Given the description of an element on the screen output the (x, y) to click on. 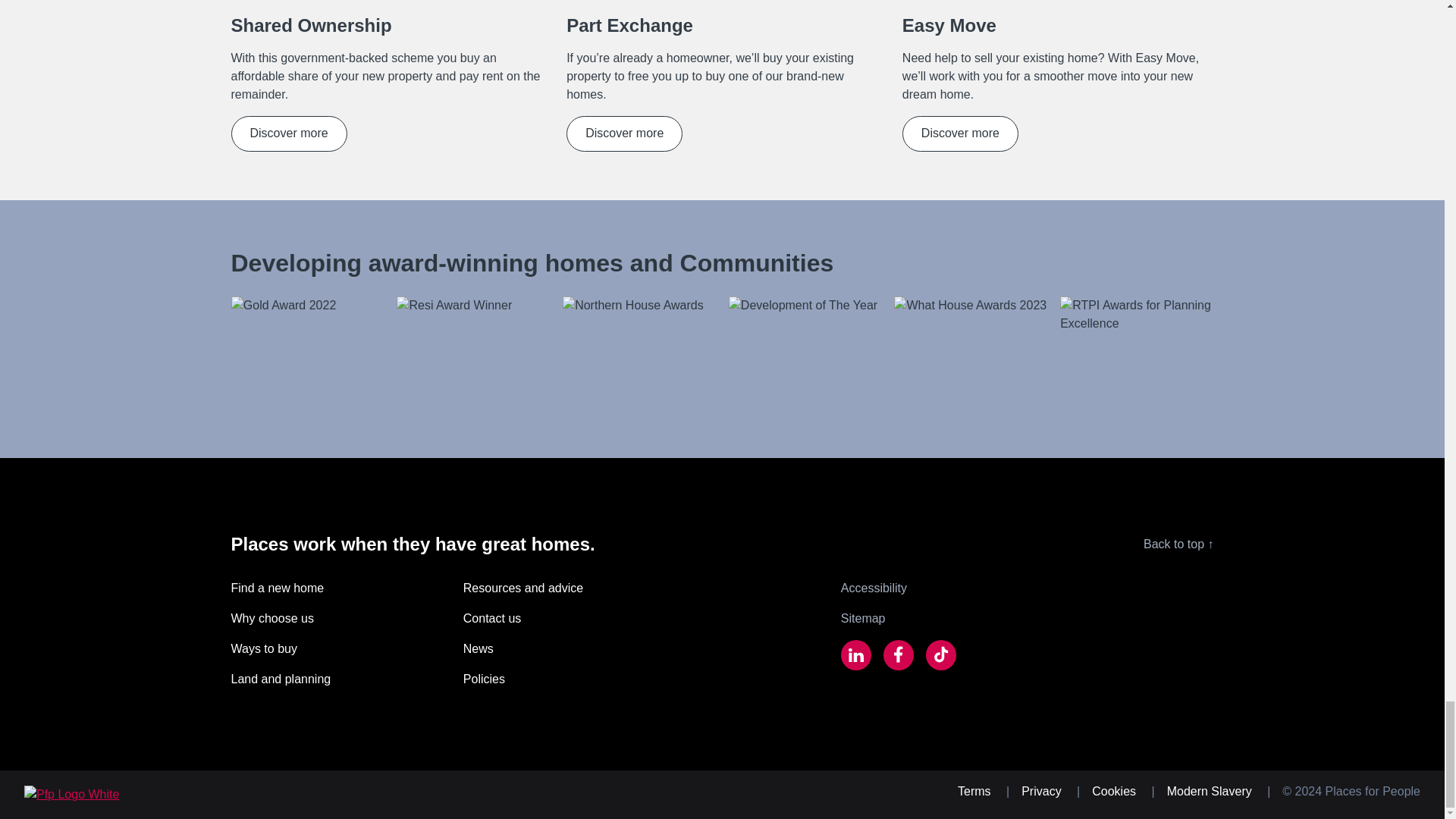
LinkedIn (855, 657)
Tiktok (941, 657)
Facebook (898, 657)
